Given the description of an element on the screen output the (x, y) to click on. 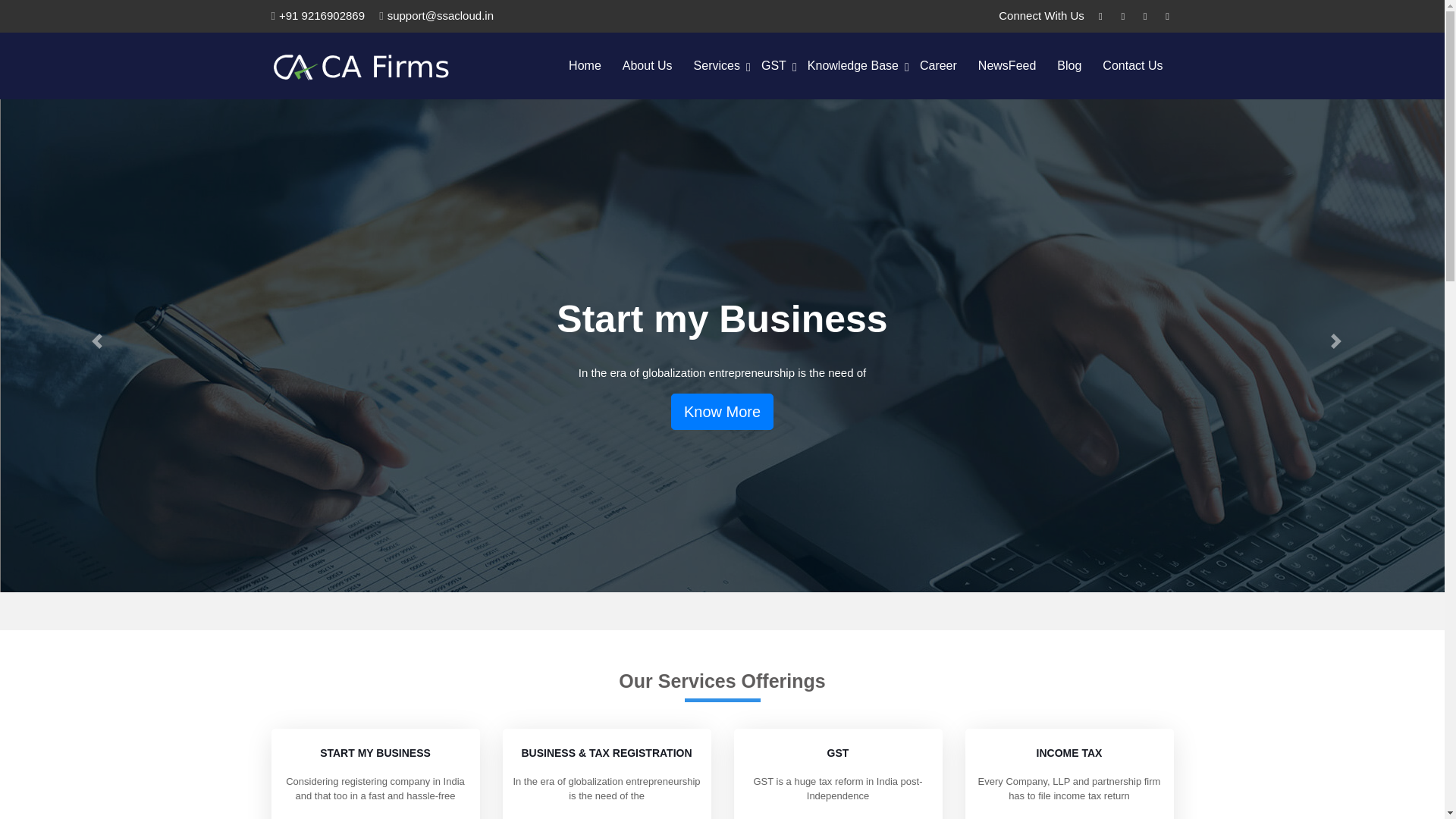
Services (716, 64)
About Us (646, 64)
